Given the description of an element on the screen output the (x, y) to click on. 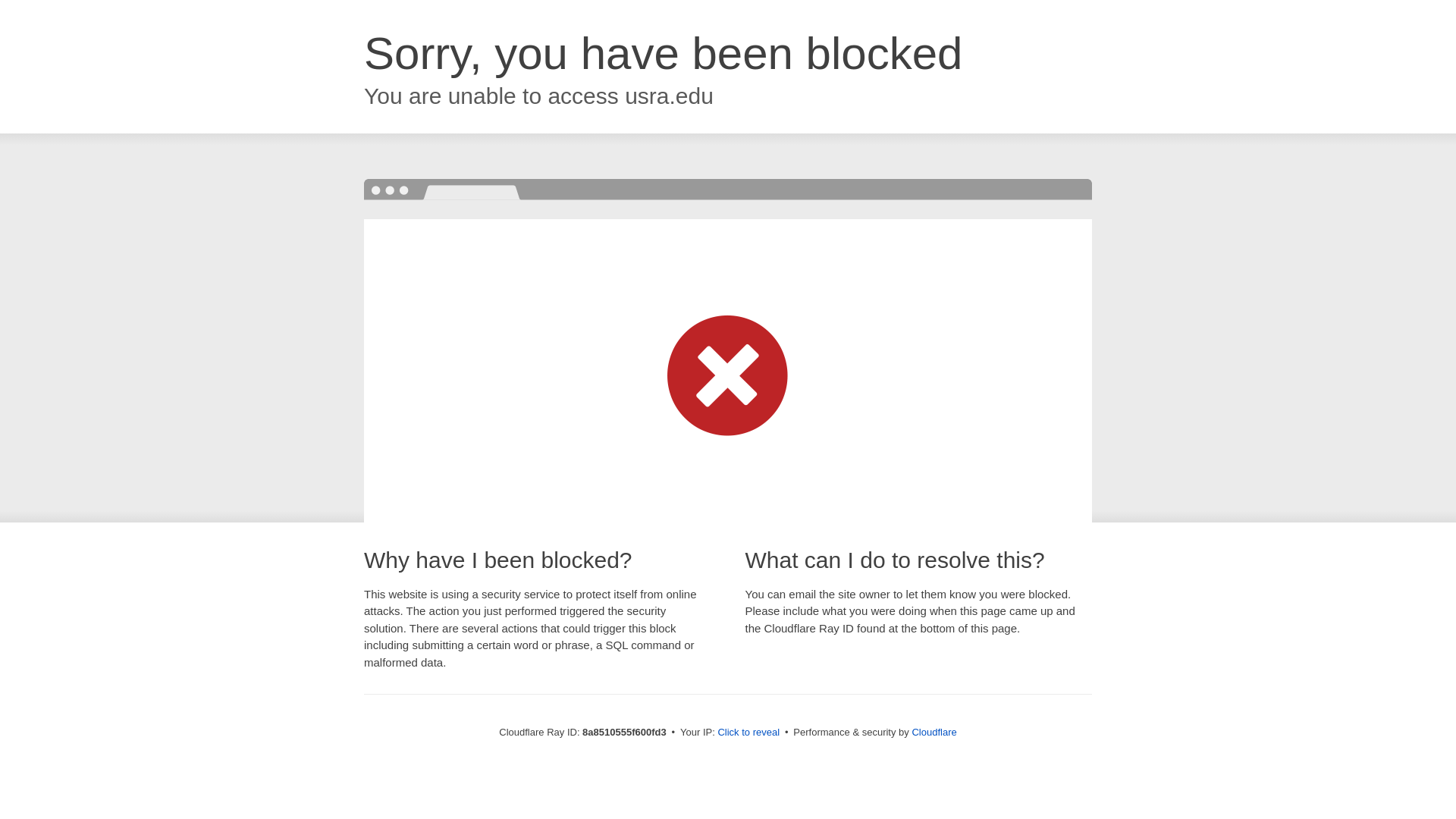
Cloudflare (933, 731)
Click to reveal (747, 732)
